Given the description of an element on the screen output the (x, y) to click on. 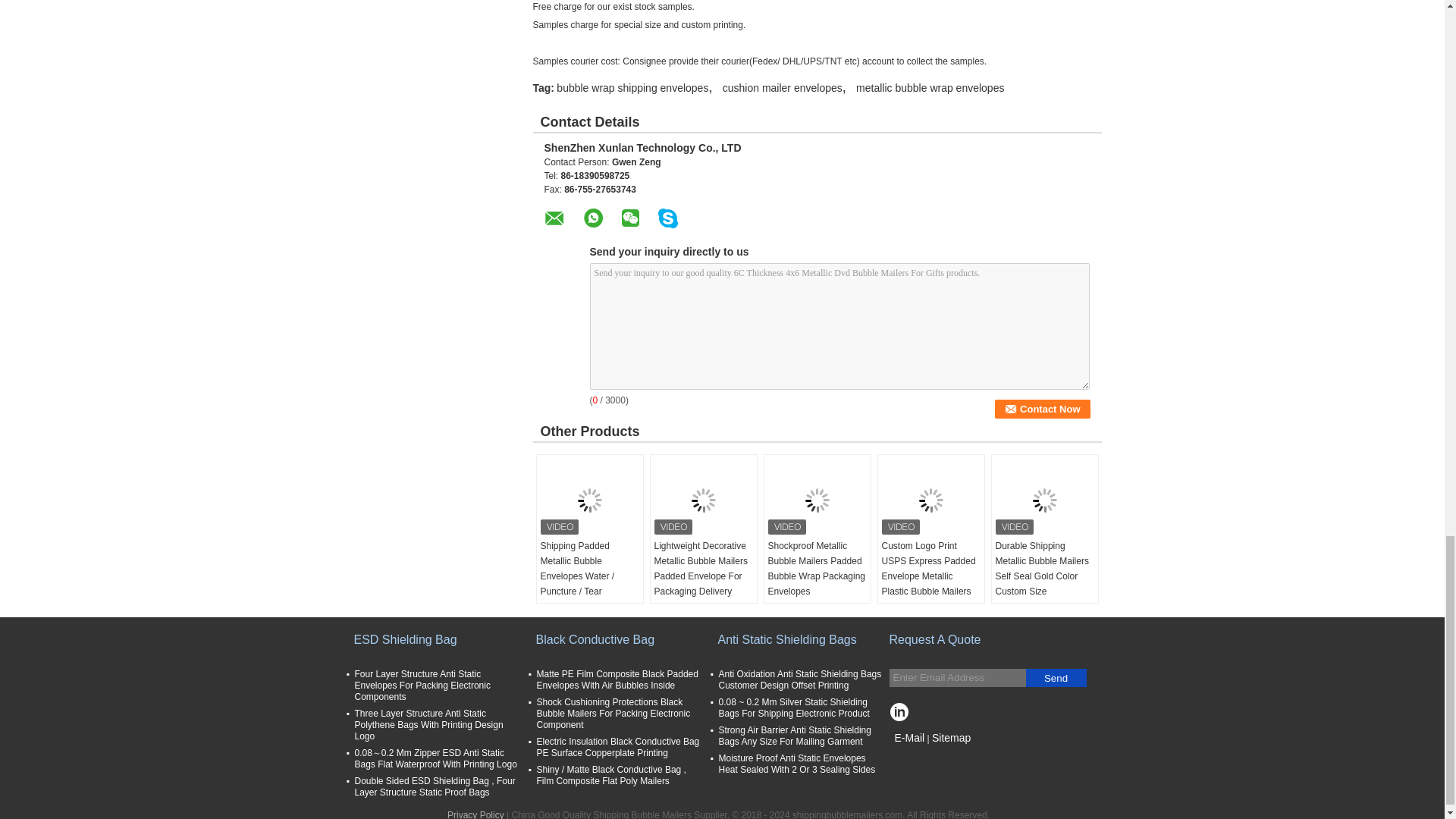
Contact Now (1041, 408)
